Given the description of an element on the screen output the (x, y) to click on. 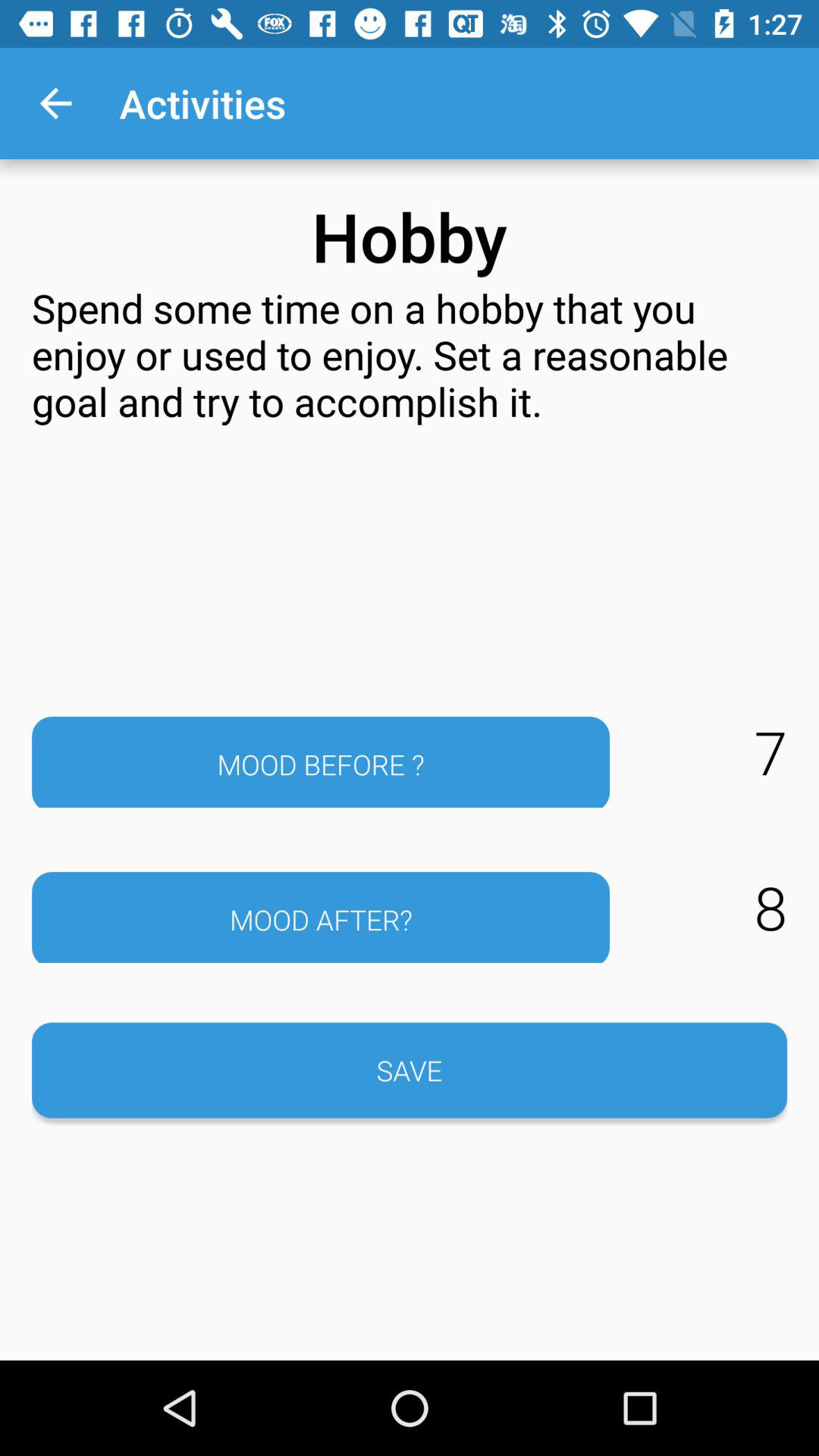
turn off item next to the activities app (55, 103)
